Given the description of an element on the screen output the (x, y) to click on. 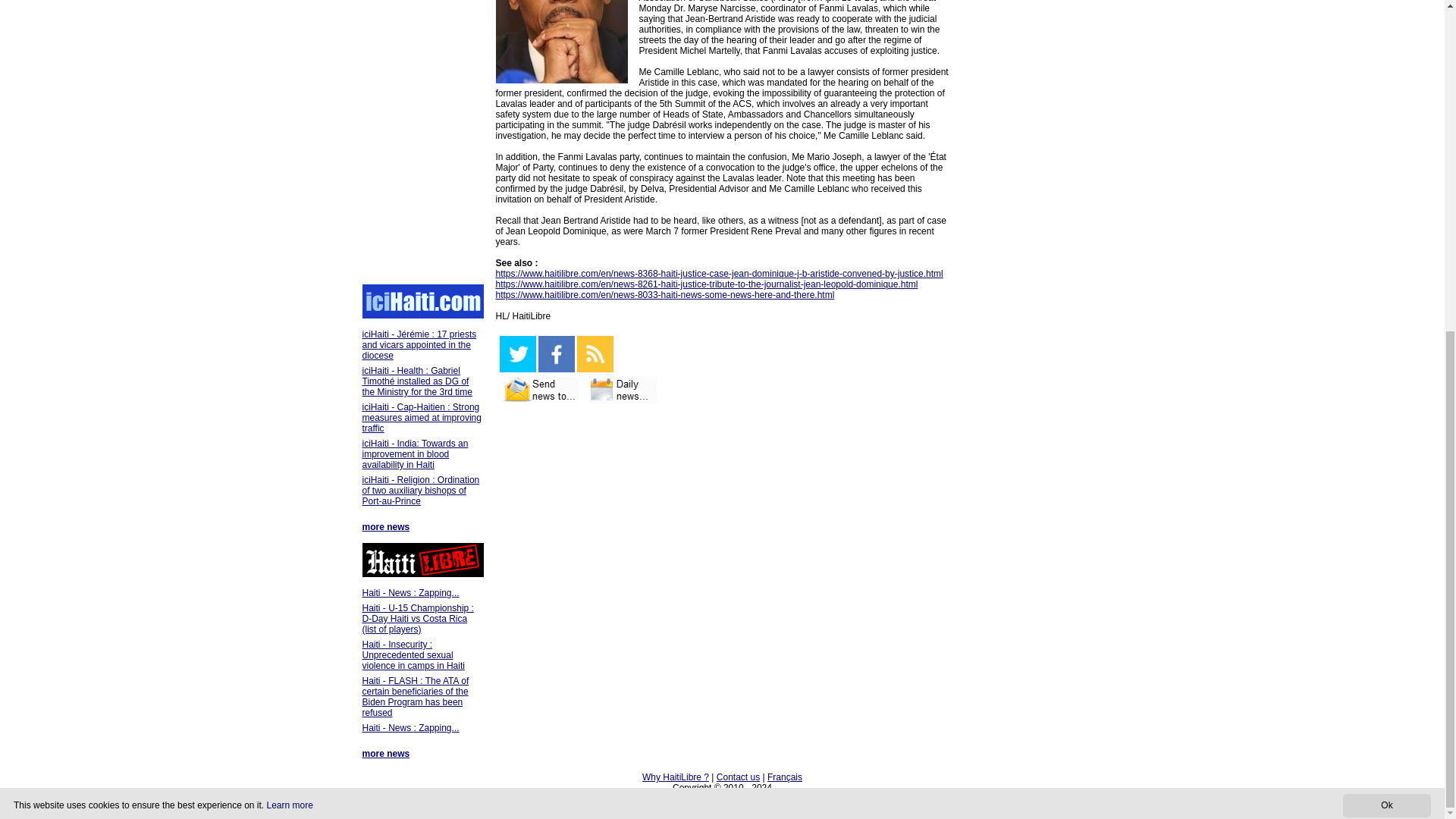
more news (386, 753)
more news (386, 526)
Haiti - News : Zapping... (411, 727)
Haiti - News : Zapping... (411, 593)
